Given the description of an element on the screen output the (x, y) to click on. 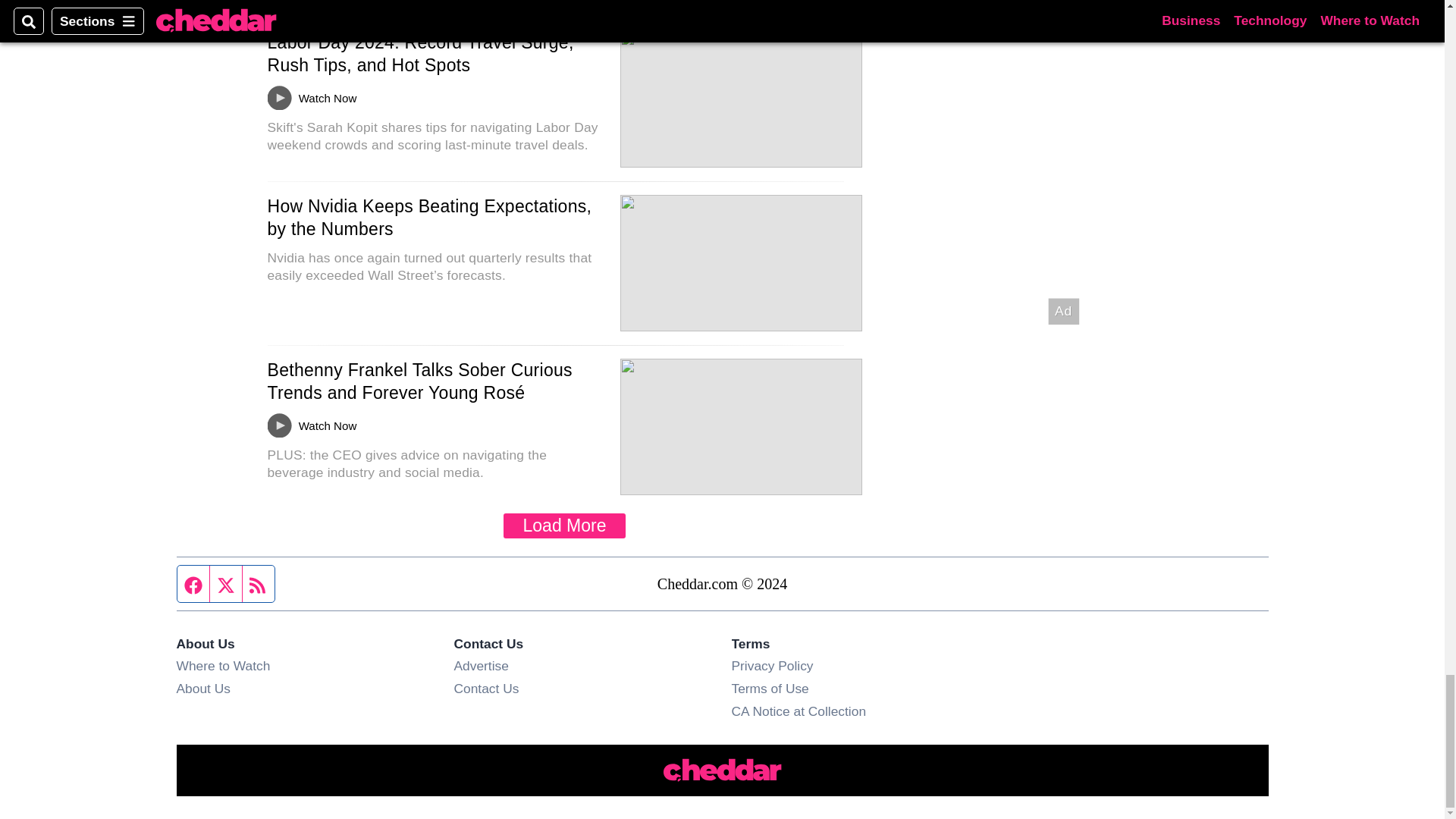
How Nvidia Keeps Beating Expectations, by the Numbers (428, 217)
Load More (564, 525)
